Given the description of an element on the screen output the (x, y) to click on. 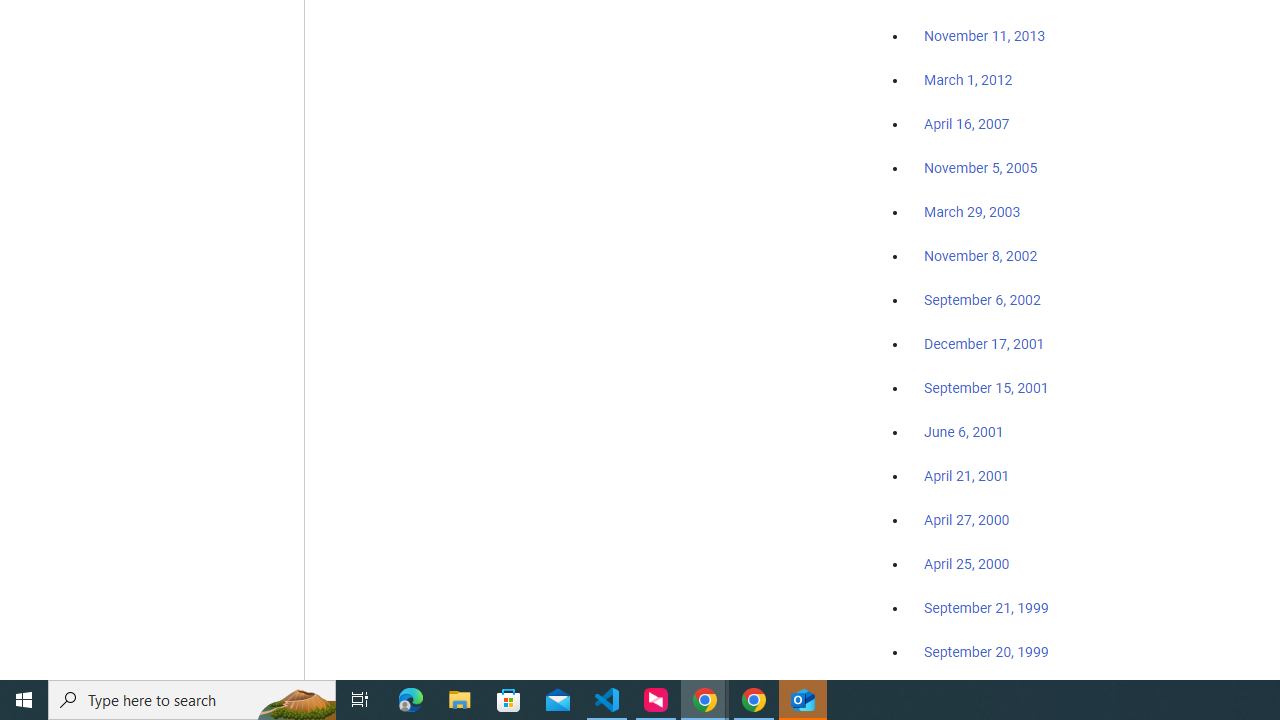
September 15, 2001 (986, 387)
December 17, 2001 (984, 343)
November 11, 2013 (984, 37)
April 21, 2001 (966, 476)
April 16, 2007 (966, 124)
March 29, 2003 (972, 212)
April 27, 2000 (966, 520)
April 25, 2000 (966, 564)
November 8, 2002 (981, 255)
November 5, 2005 (981, 168)
June 6, 2001 (963, 431)
September 6, 2002 (982, 299)
March 1, 2012 (968, 81)
September 21, 1999 (986, 608)
September 20, 1999 (986, 651)
